Given the description of an element on the screen output the (x, y) to click on. 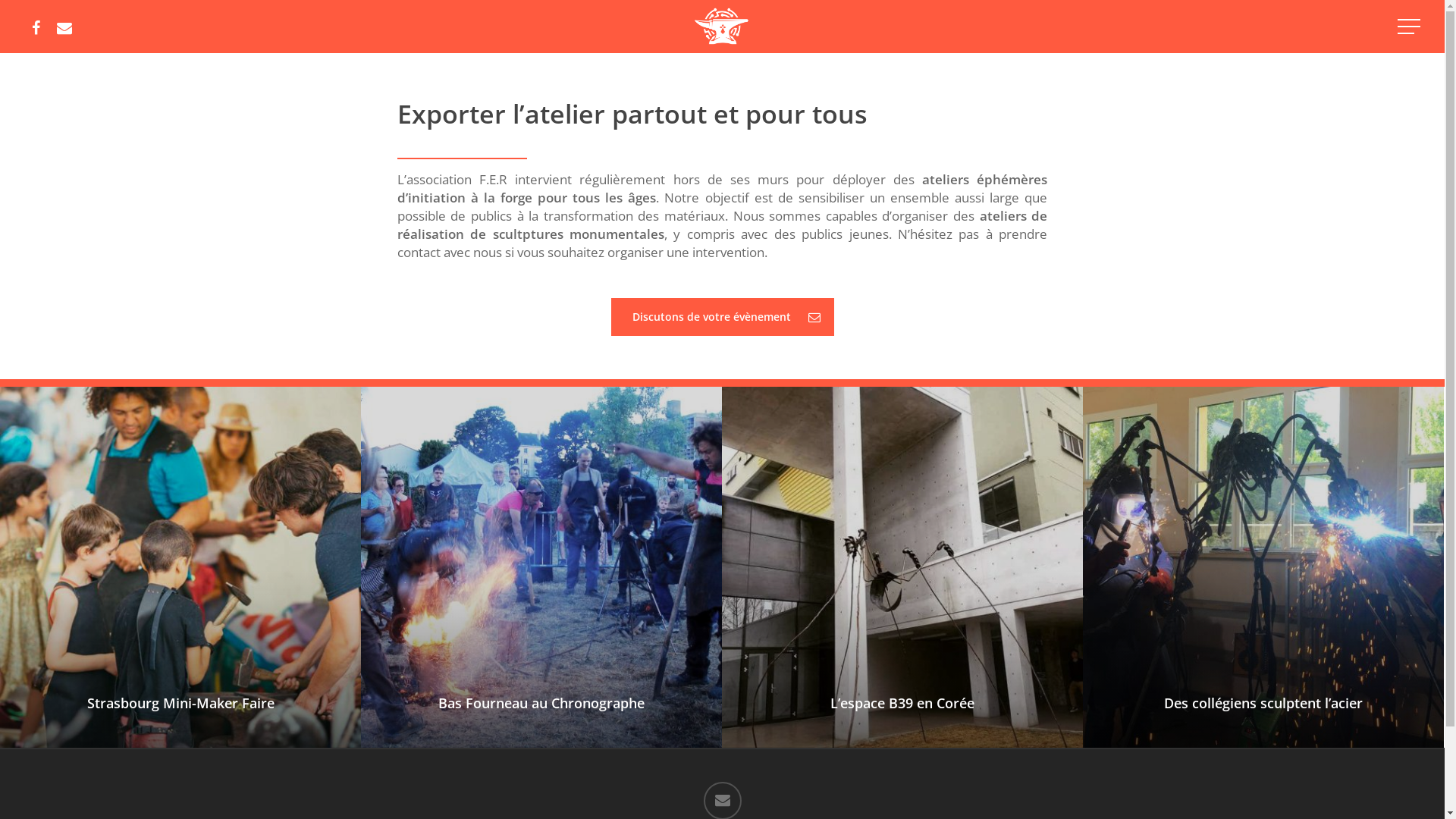
Strasbourg Mini-Maker Faire Element type: text (180, 702)
Bas Fourneau au Chronographe Element type: text (541, 702)
